Given the description of an element on the screen output the (x, y) to click on. 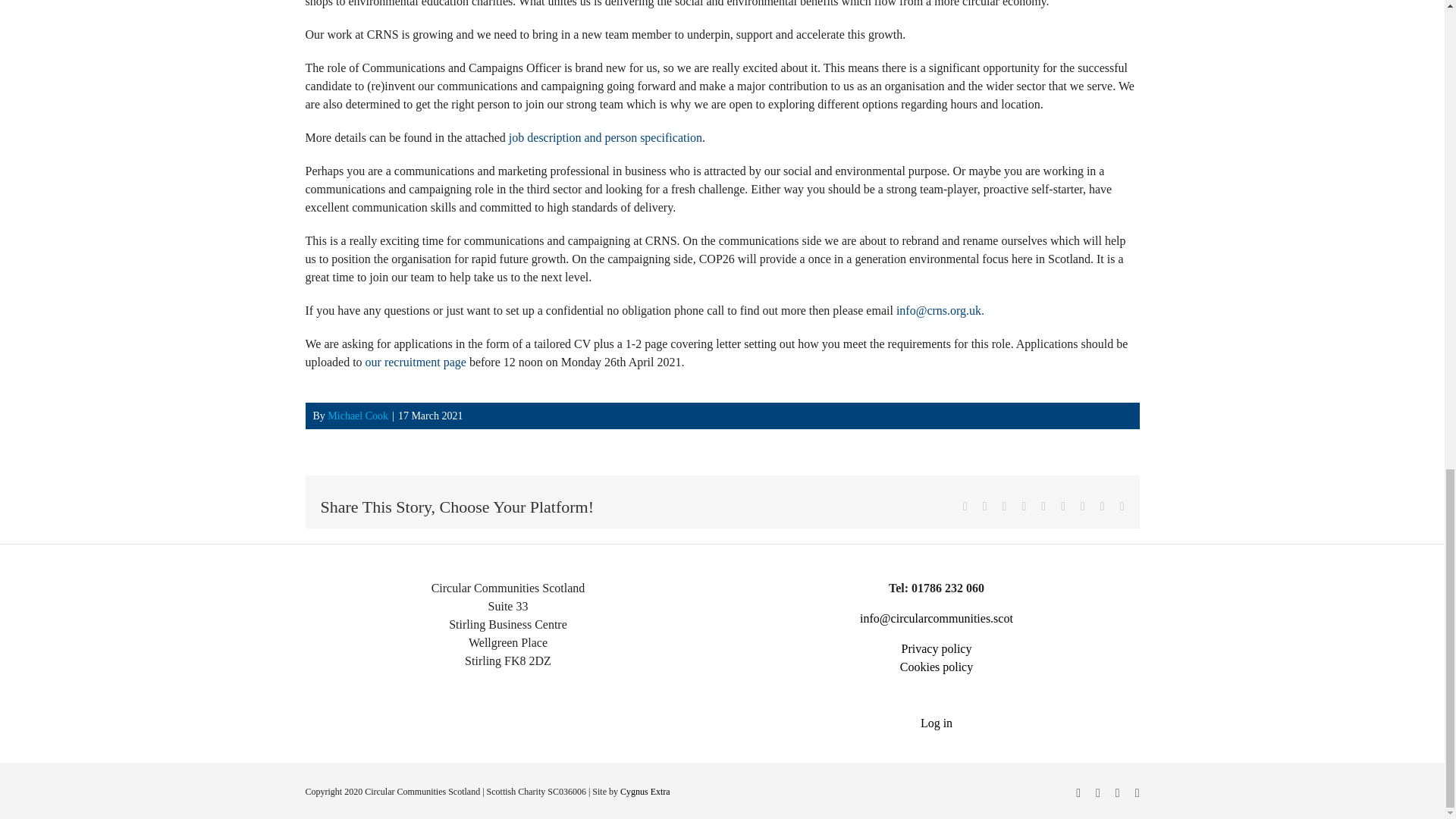
Cookies policy (935, 666)
Cygnus Extra (644, 791)
Michael Cook (357, 415)
Posts by Michael Cook (357, 415)
Log in (936, 723)
job description and person specification (604, 137)
Privacy policy (936, 648)
our recruitment page (415, 361)
